Given the description of an element on the screen output the (x, y) to click on. 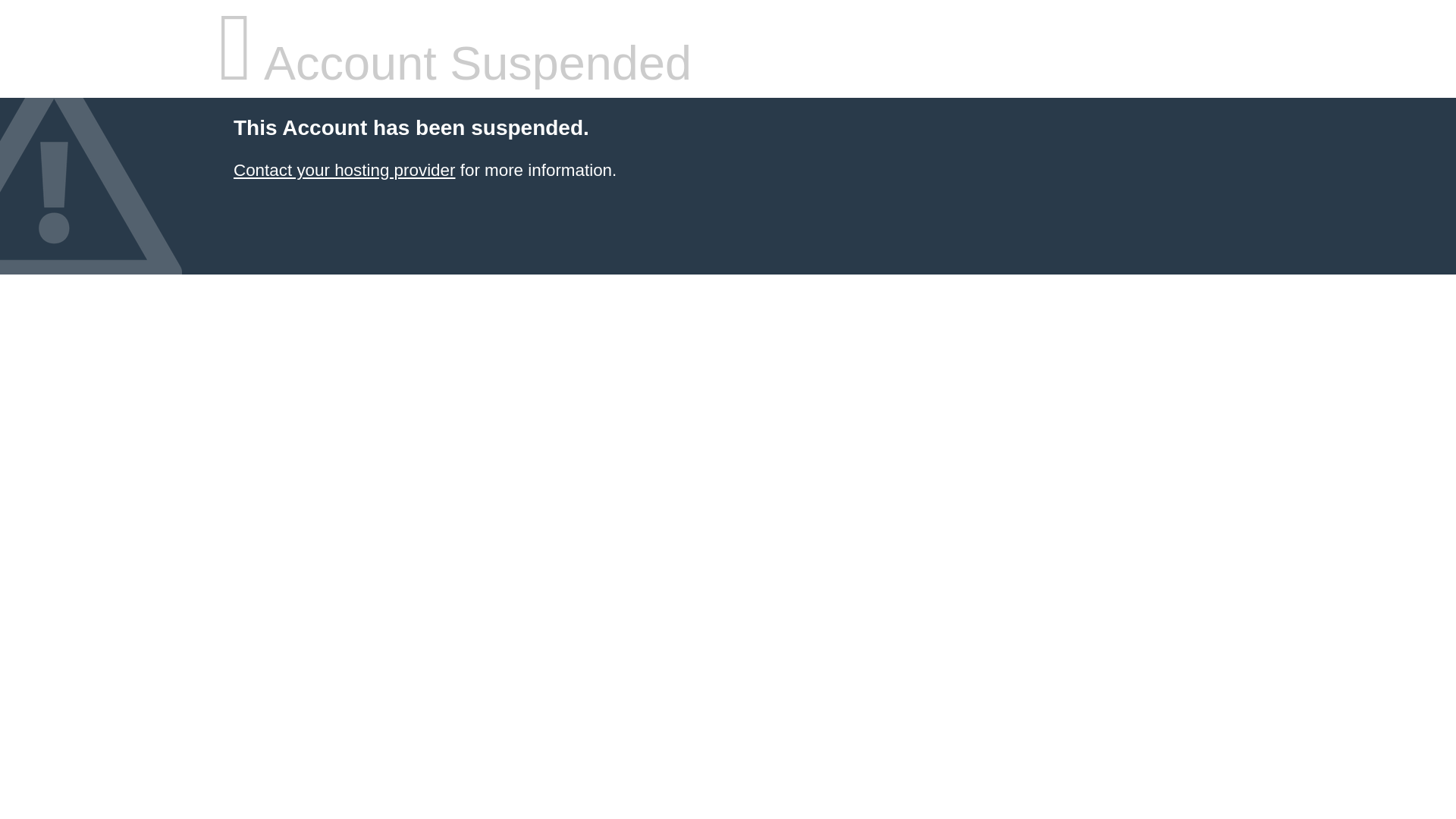
Contact your hosting provider (343, 169)
